Given the description of an element on the screen output the (x, y) to click on. 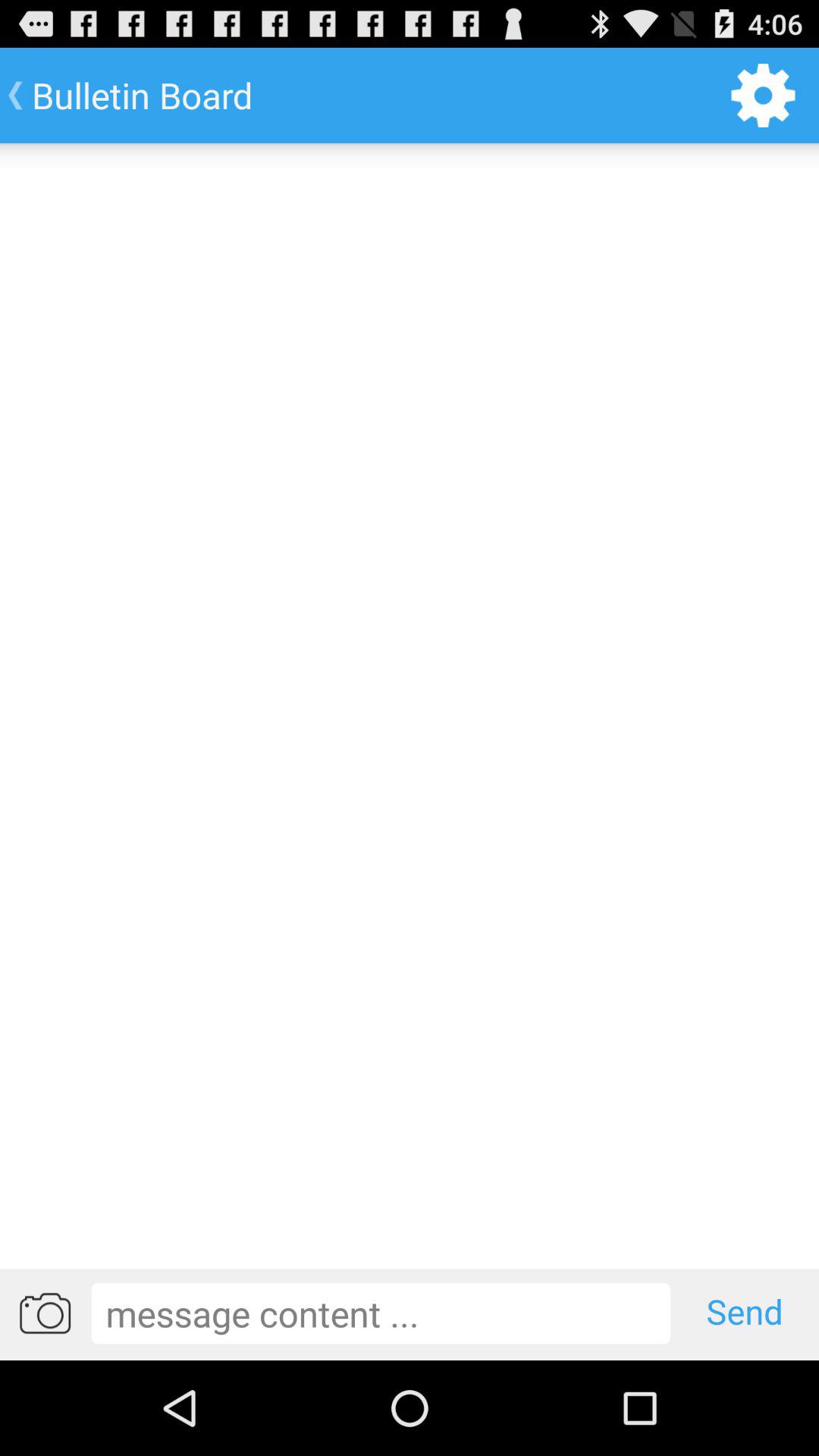
type the message (380, 1313)
